Given the description of an element on the screen output the (x, y) to click on. 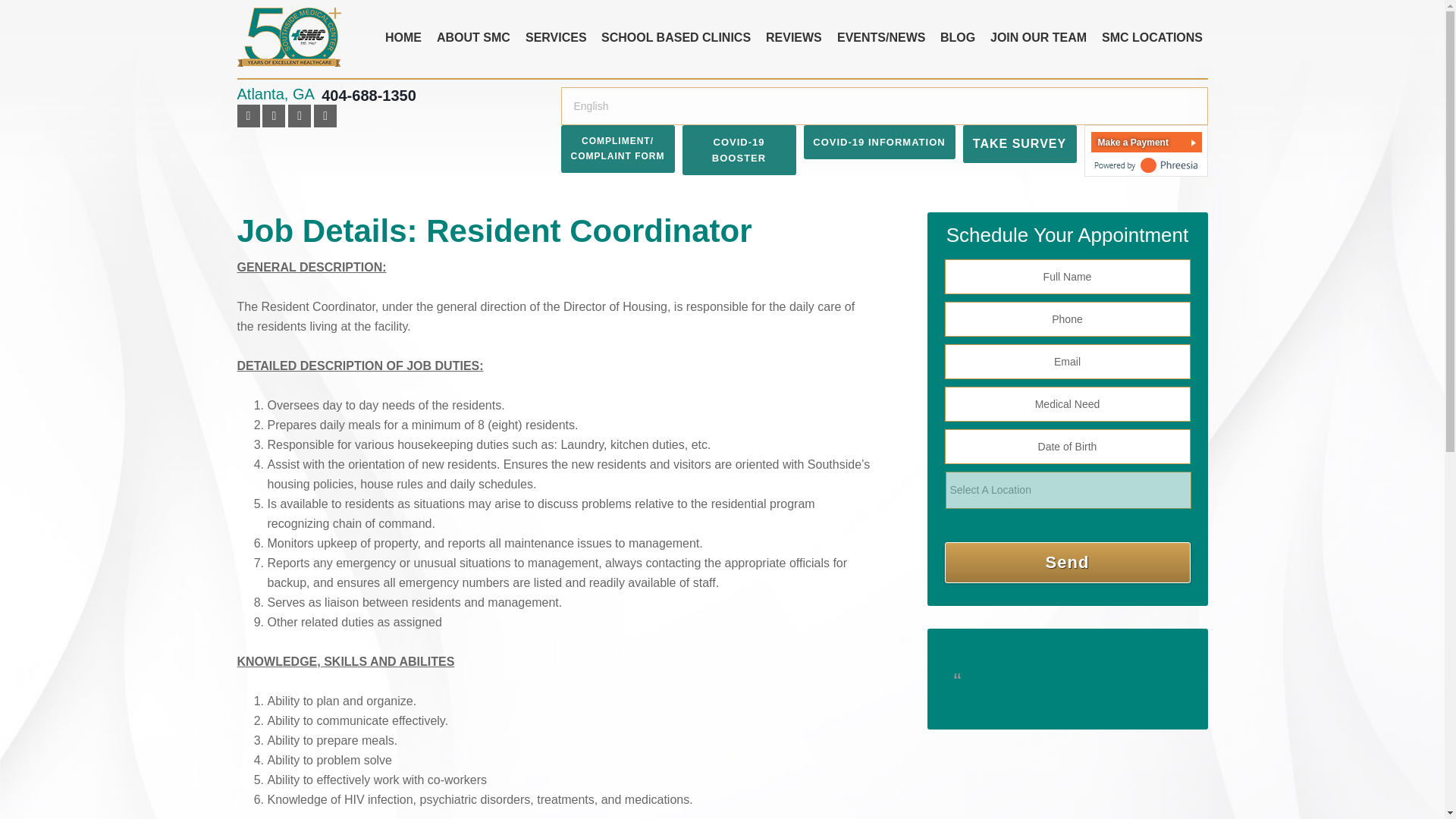
BLOG (957, 37)
SERVICES (556, 37)
REVIEWS (793, 37)
HOME (403, 37)
JOIN OUR TEAM (1038, 37)
Send (1067, 562)
SCHOOL BASED CLINICS (676, 37)
ABOUT SMC (473, 37)
